Given the description of an element on the screen output the (x, y) to click on. 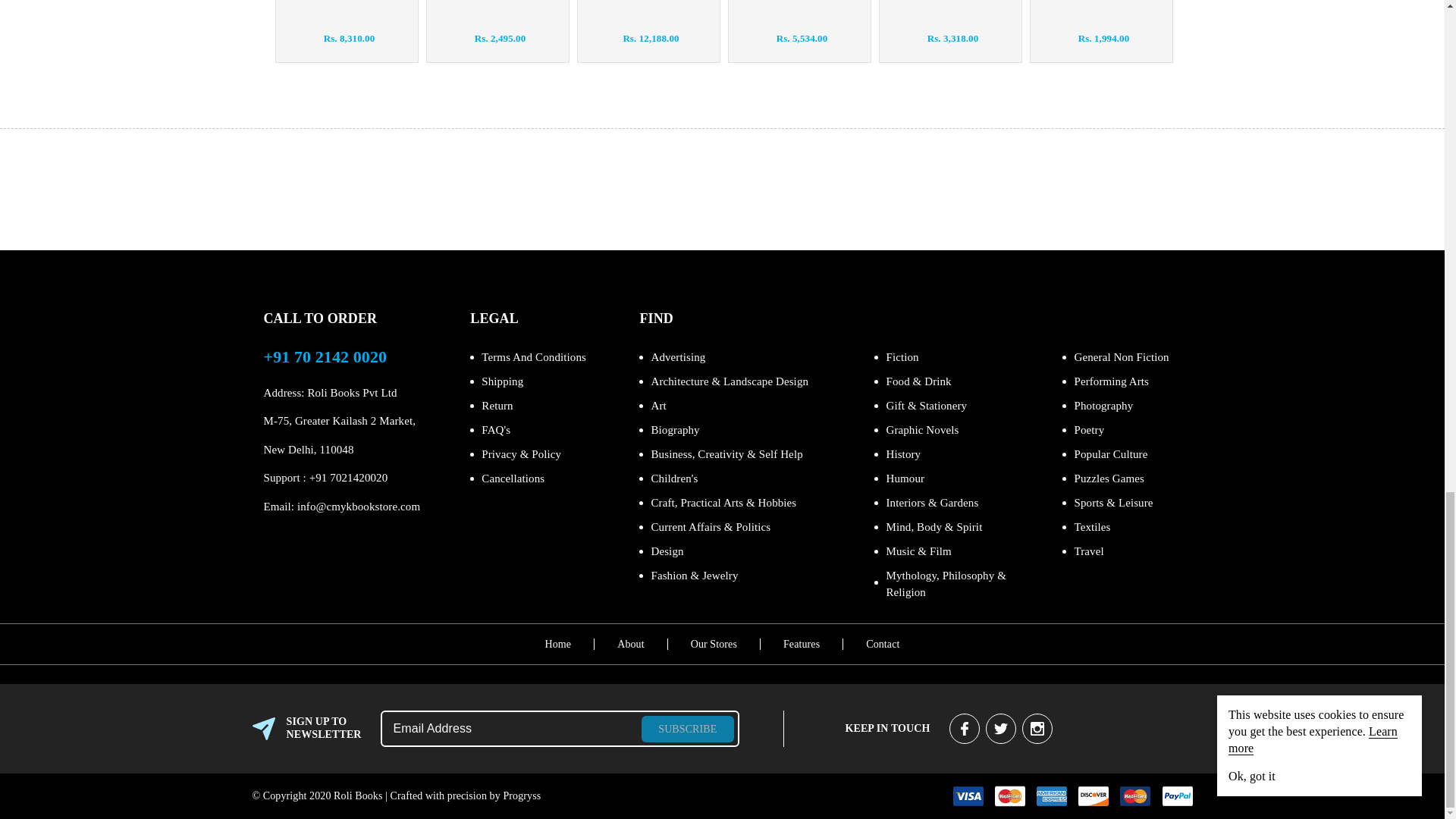
Facebook (964, 728)
Instagram (1037, 728)
Twitter (1000, 728)
